Given the description of an element on the screen output the (x, y) to click on. 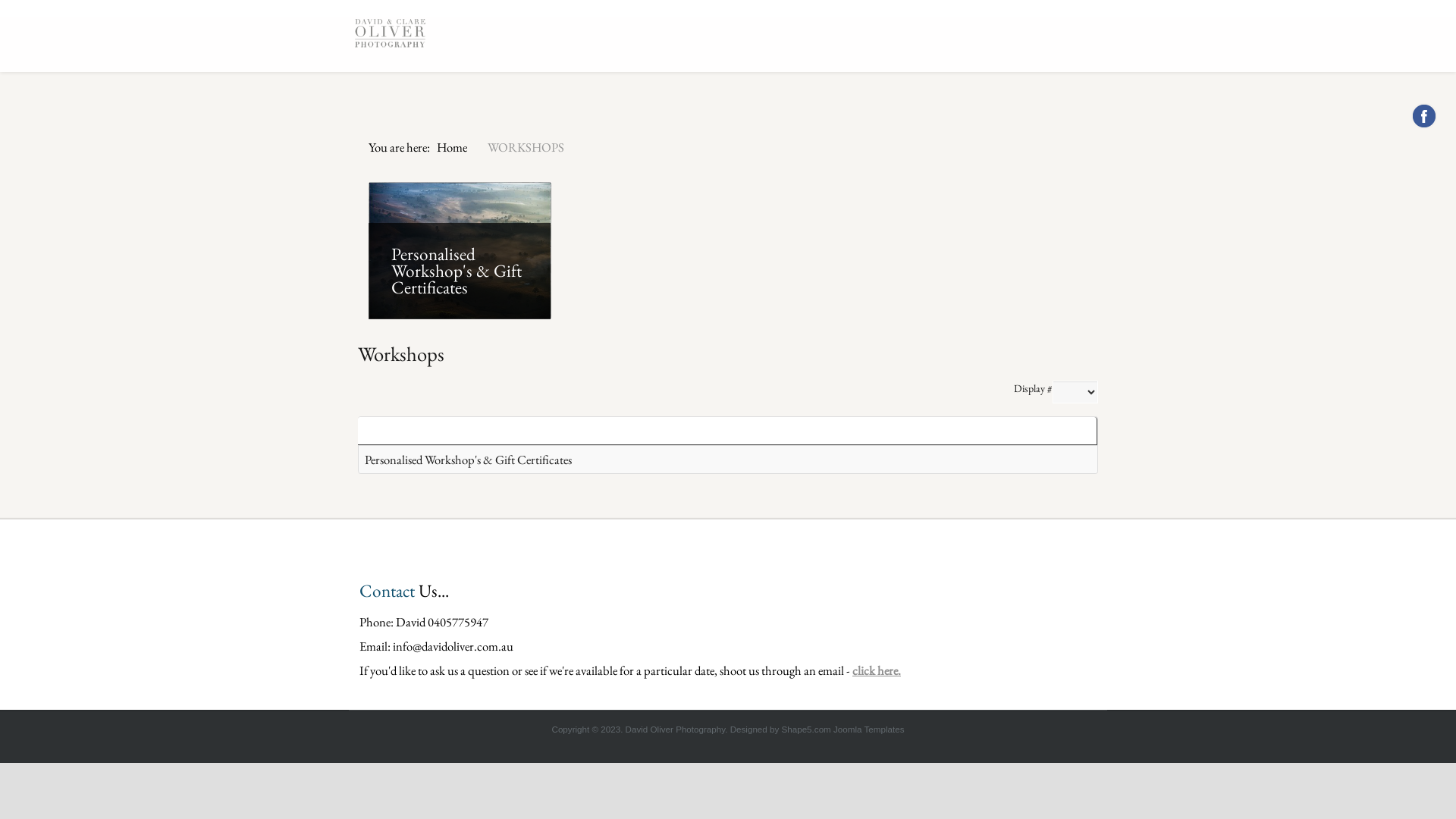
Personalised Workshop's & Gift Certificates Element type: hover (459, 250)
click here. Element type: text (876, 670)
info@davidoliver.com.au Element type: text (452, 645)
Title Element type: text (375, 430)
Joomla Templates Element type: text (868, 729)
Personalised Workshop's & Gift Certificates Element type: text (467, 459)
Home Element type: text (451, 146)
Personalised Workshop's & Gift Certificates Element type: text (456, 270)
